Given the description of an element on the screen output the (x, y) to click on. 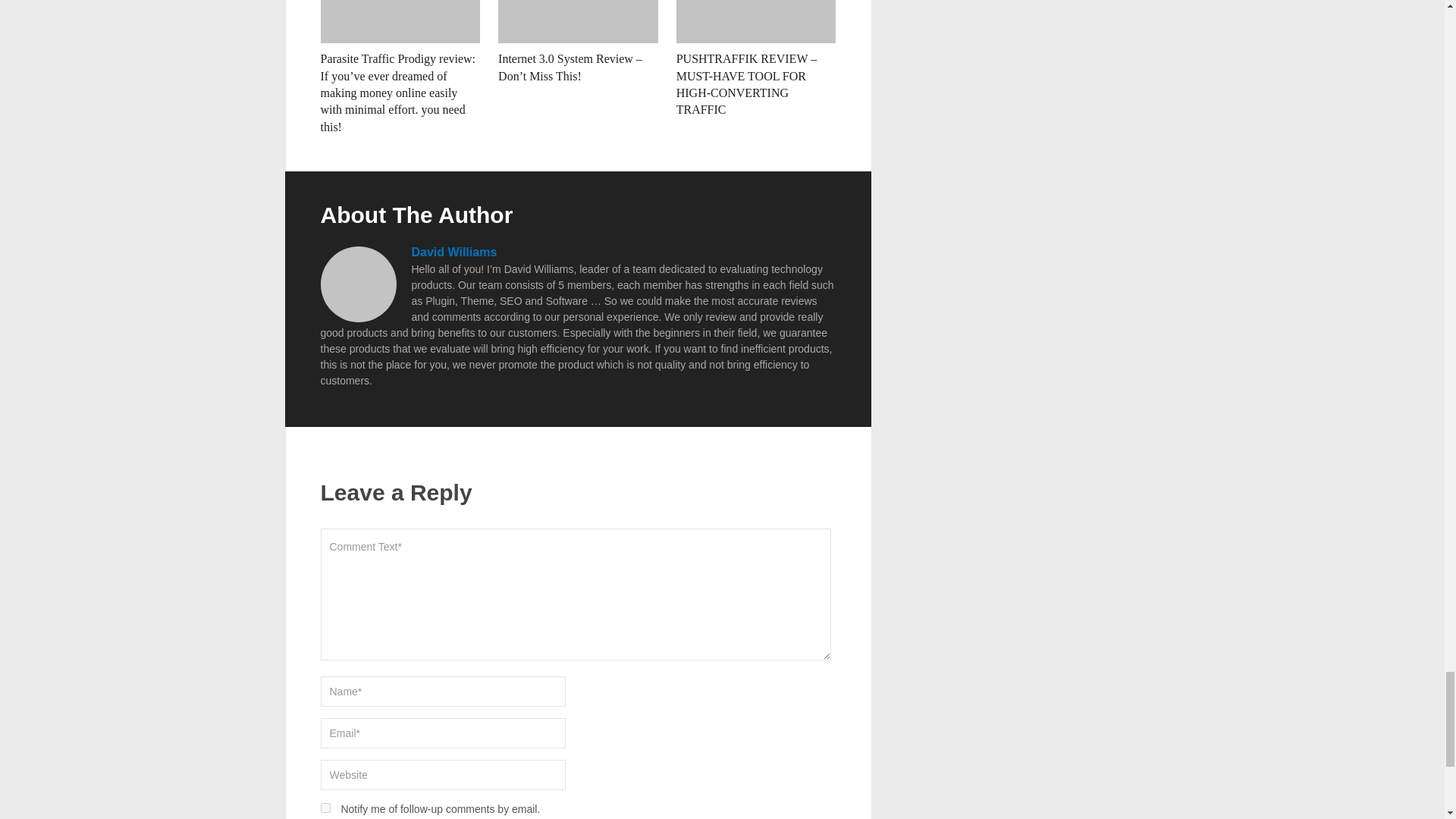
subscribe (325, 808)
